Given the description of an element on the screen output the (x, y) to click on. 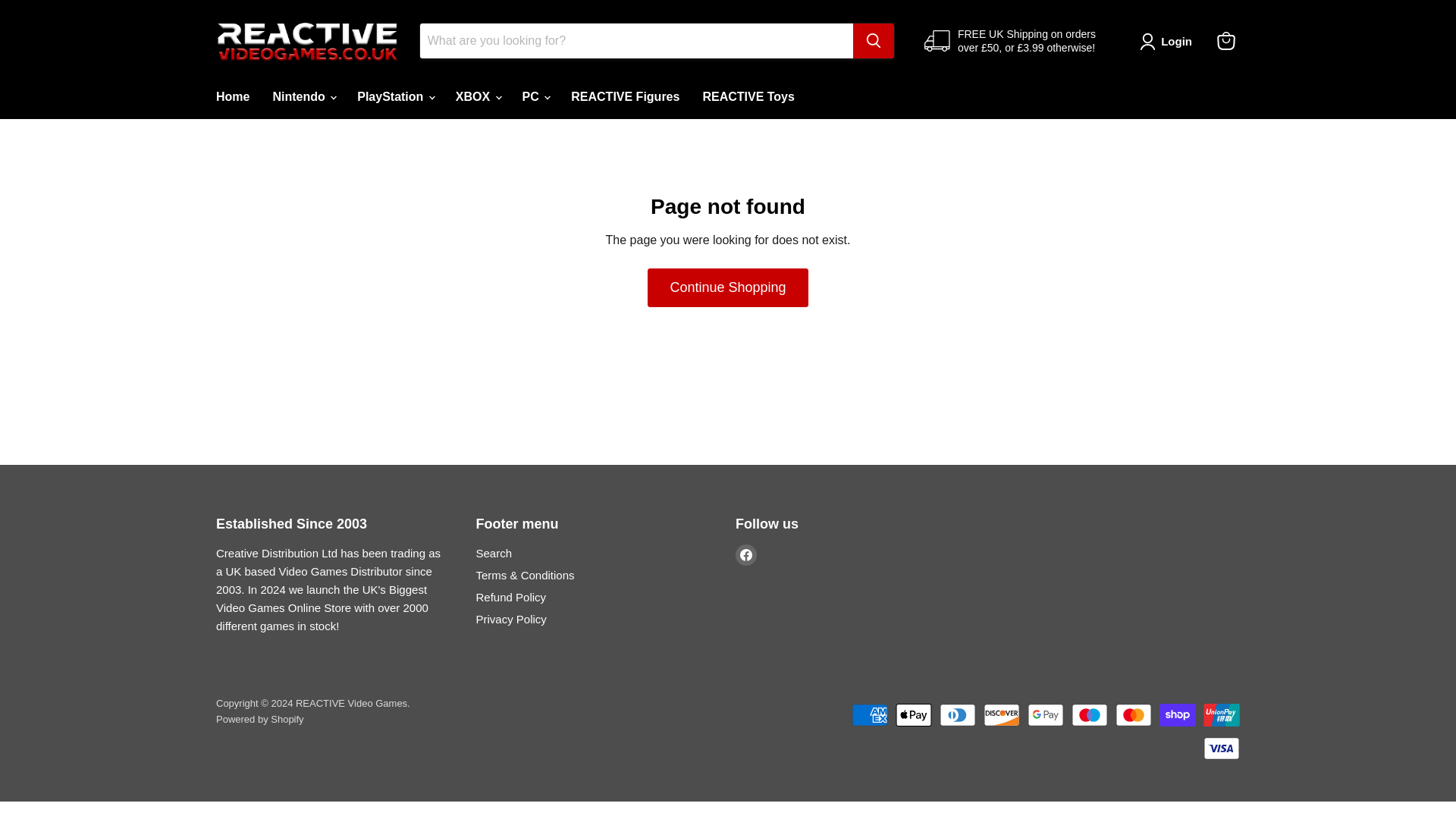
Visa (1222, 748)
American Express (869, 714)
Discover (1002, 714)
Shop Pay (1176, 714)
Maestro (1089, 714)
Apple Pay (913, 714)
Diners Club (957, 714)
Mastercard (1133, 714)
Union Pay (1222, 714)
View cart (1226, 40)
